Given the description of an element on the screen output the (x, y) to click on. 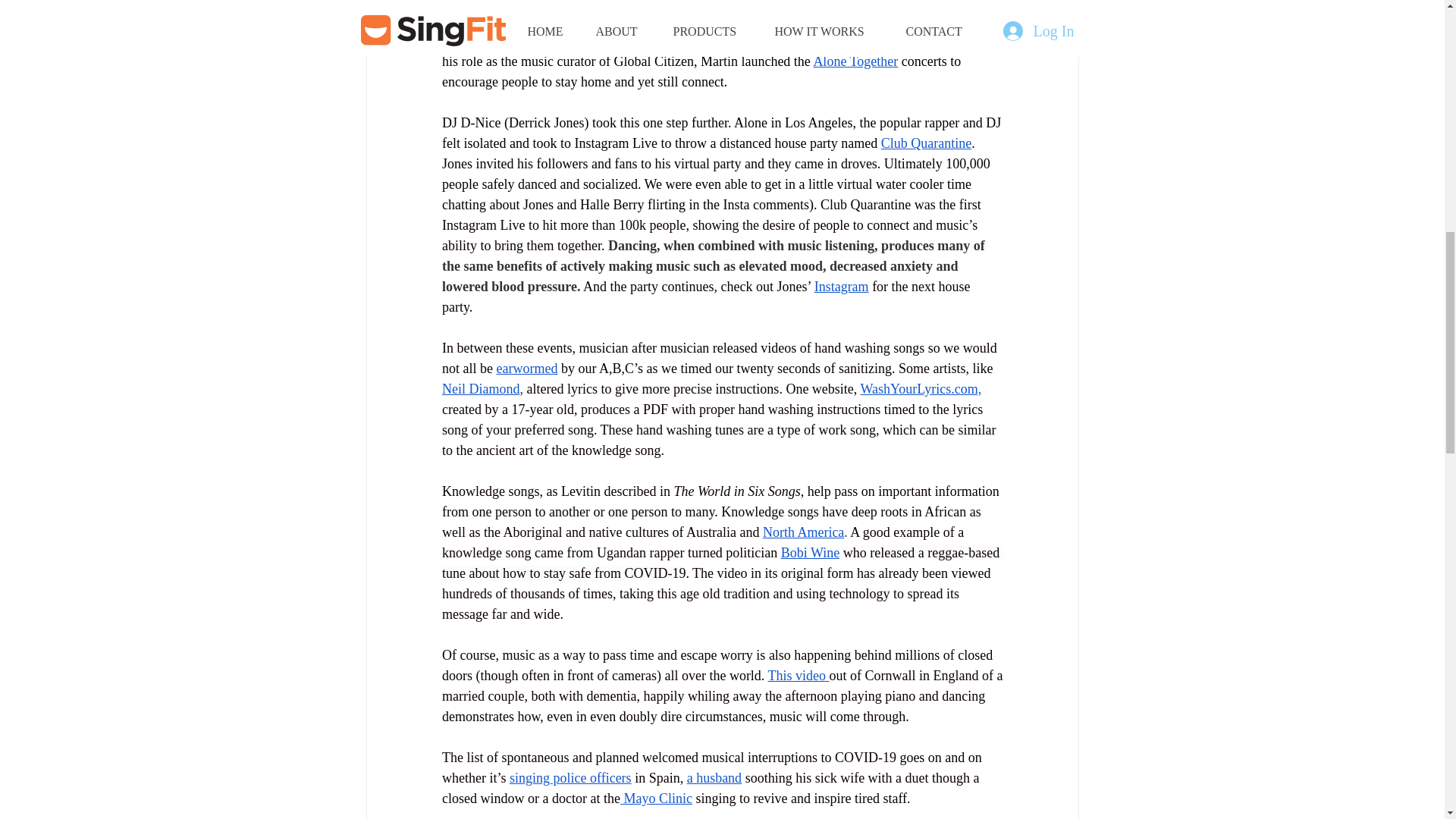
This video  (797, 675)
WashYourLyrics.com, (920, 388)
Alone Together (855, 61)
Bobi Wine (809, 552)
Club Quarantine (925, 142)
 Mayo Clinic (655, 798)
North America (802, 531)
earwormed (526, 368)
Instagram (840, 286)
singing police officers (569, 777)
a husband (713, 777)
Neil Diamond (479, 388)
